Given the description of an element on the screen output the (x, y) to click on. 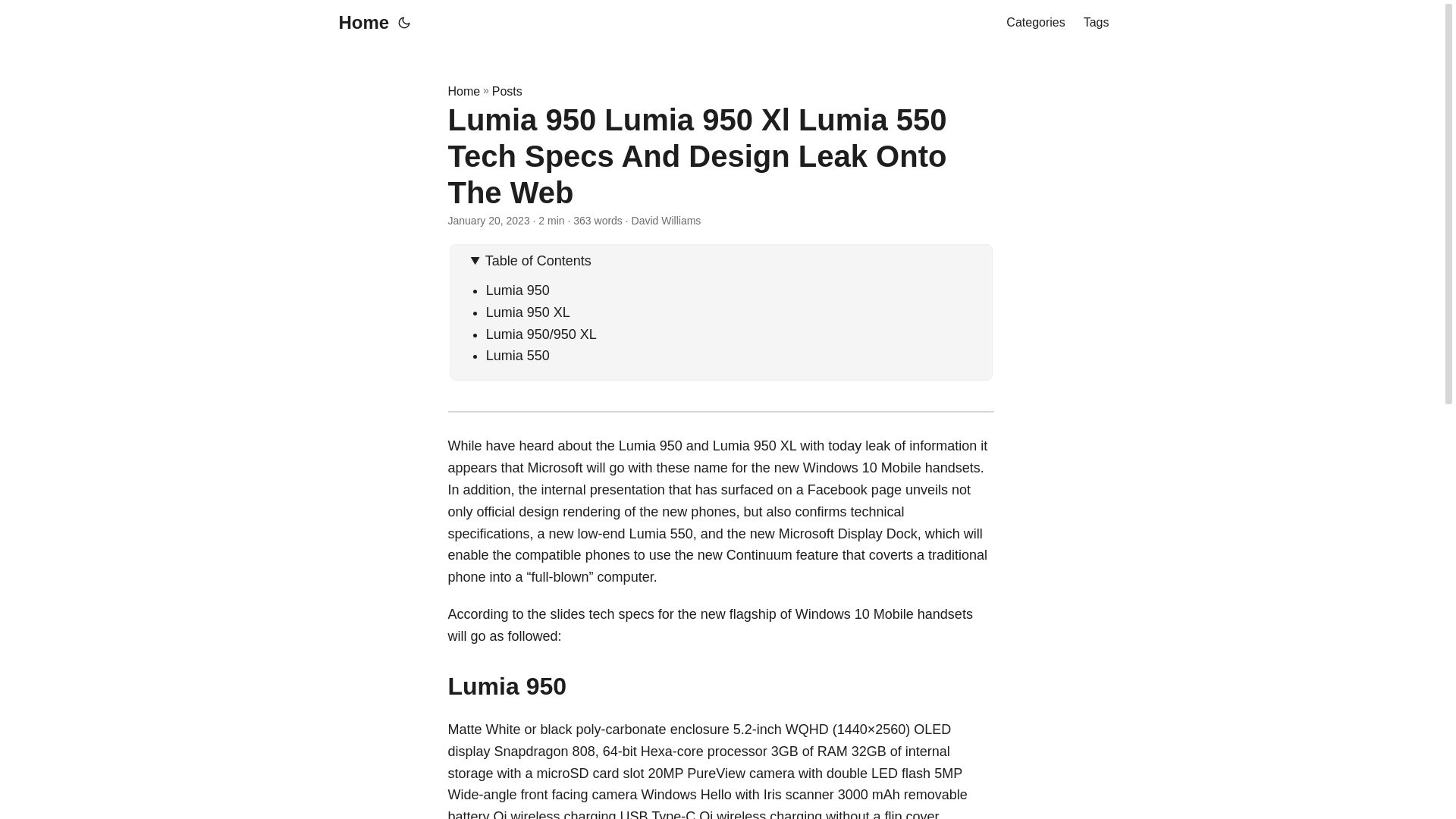
Lumia 550 (518, 355)
Lumia 950 (518, 290)
Categories (1035, 22)
Posts (507, 91)
Lumia 950 XL (528, 312)
Categories (1035, 22)
Home (359, 22)
Home (463, 91)
